Given the description of an element on the screen output the (x, y) to click on. 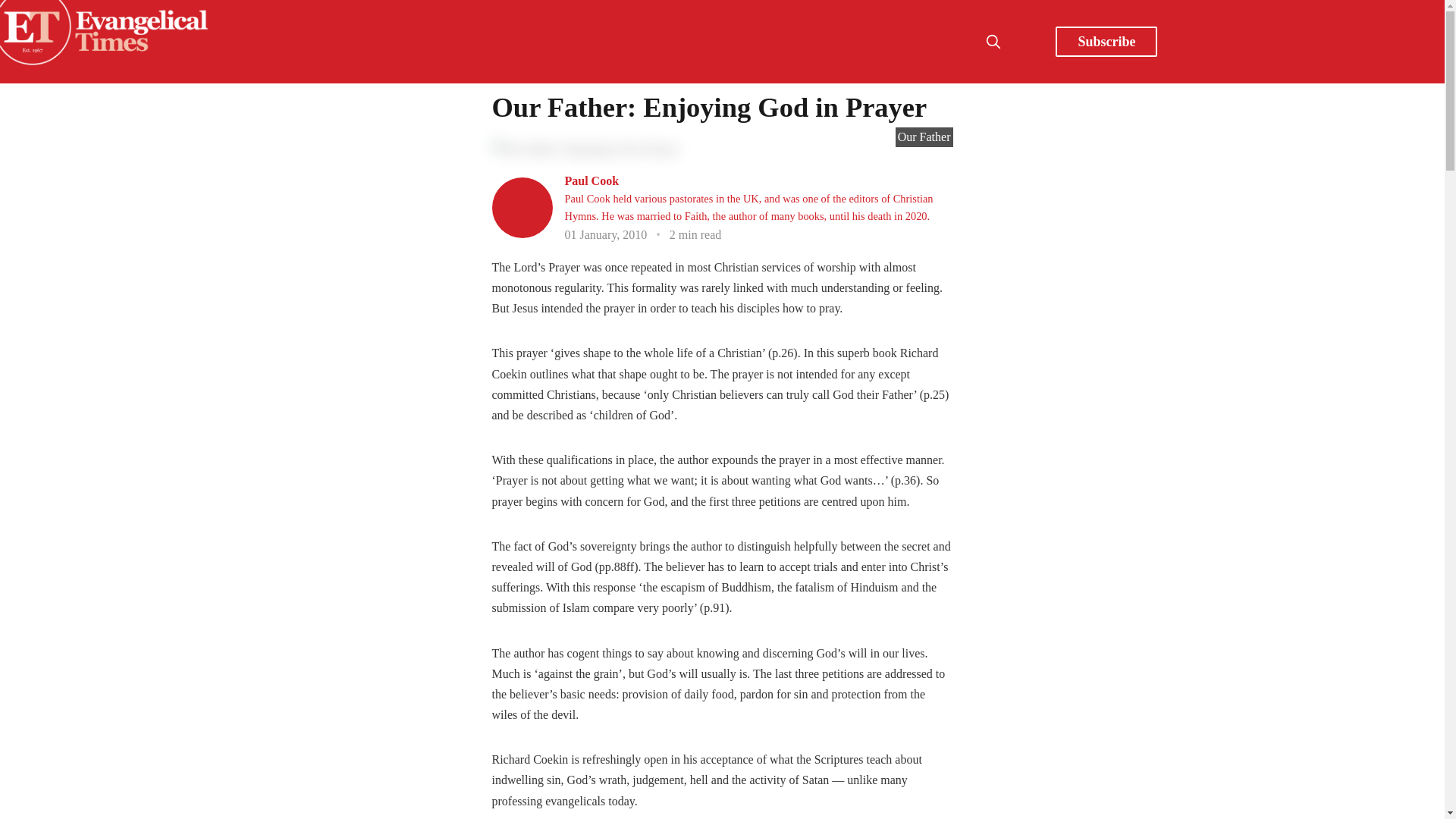
Paul Cook (591, 180)
Open Menu (1026, 41)
Subscribe (1106, 41)
